Given the description of an element on the screen output the (x, y) to click on. 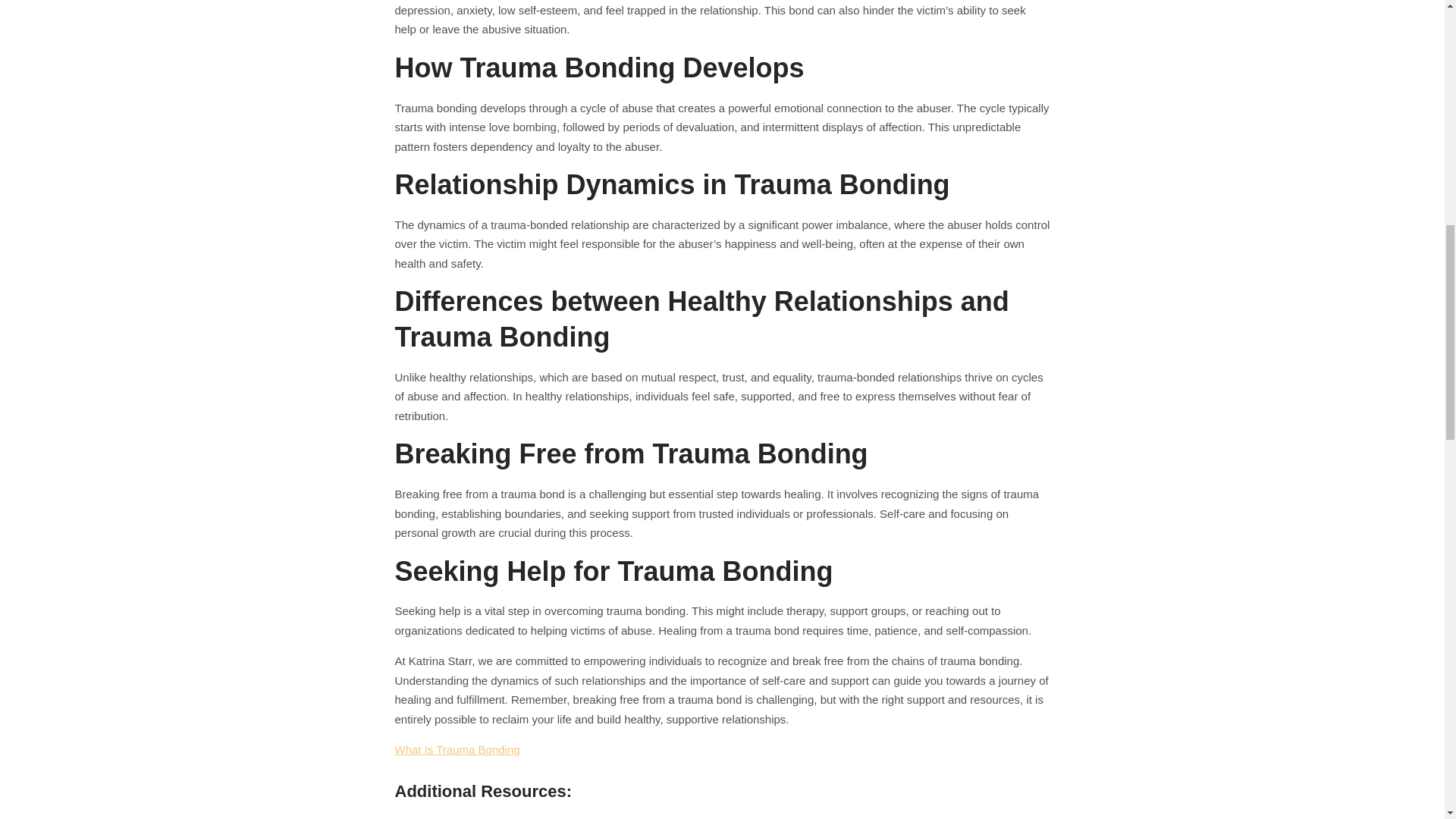
What Is Trauma Bonding (456, 748)
